Given the description of an element on the screen output the (x, y) to click on. 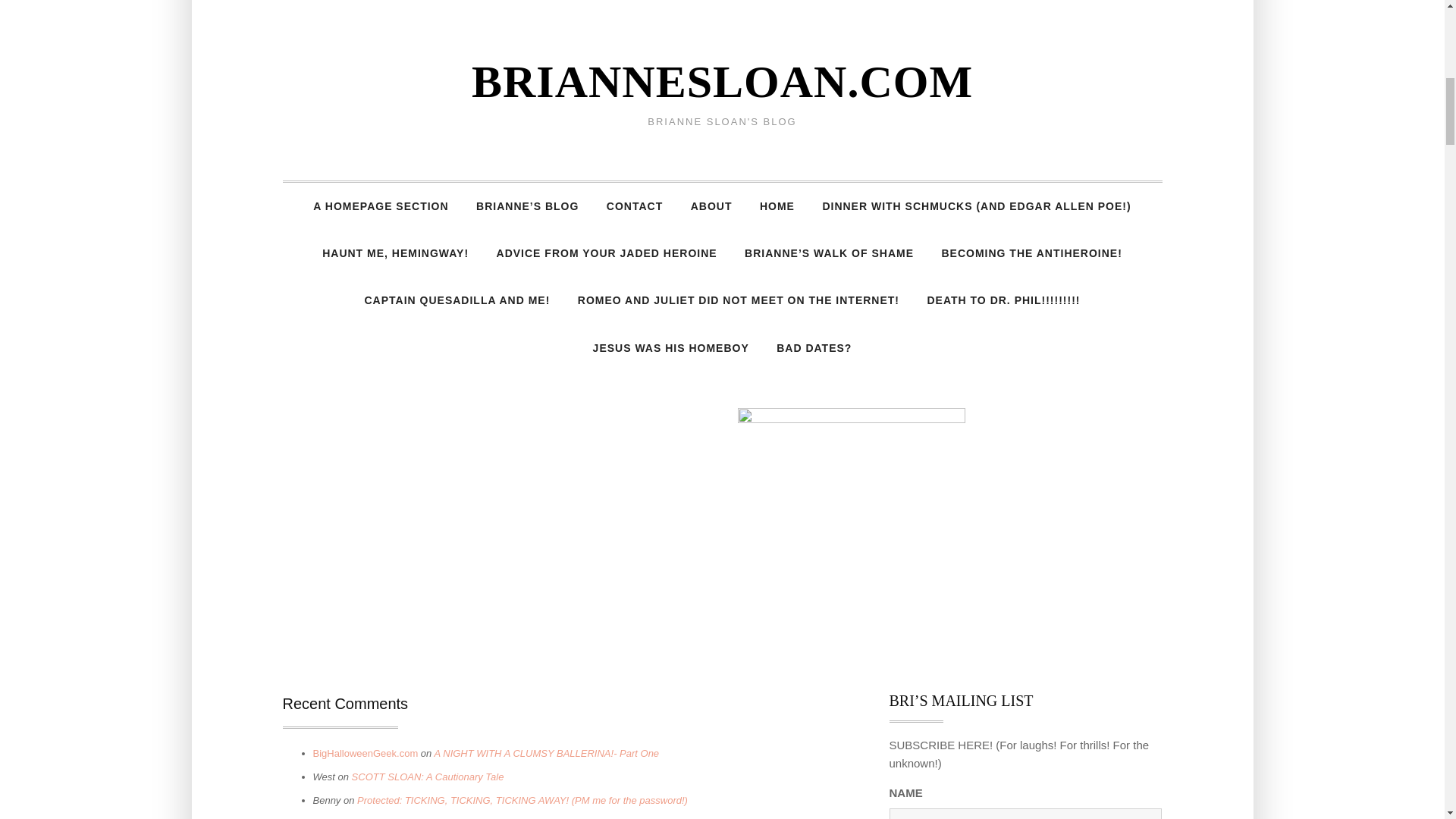
CAPTAIN QUESADILLA AND ME! (457, 299)
BRIANNESLOAN.COM (721, 81)
JESUS WAS HIS HOMEBOY (670, 347)
CONTACT (634, 206)
A HOMEPAGE SECTION (380, 206)
HOME (777, 206)
ROMEO AND JULIET DID NOT MEET ON THE INTERNET! (738, 299)
BECOMING THE ANTIHEROINE! (1031, 253)
BigHalloweenGeek.com (365, 753)
DEATH TO DR. PHIL!!!!!!!!! (1003, 299)
